Given the description of an element on the screen output the (x, y) to click on. 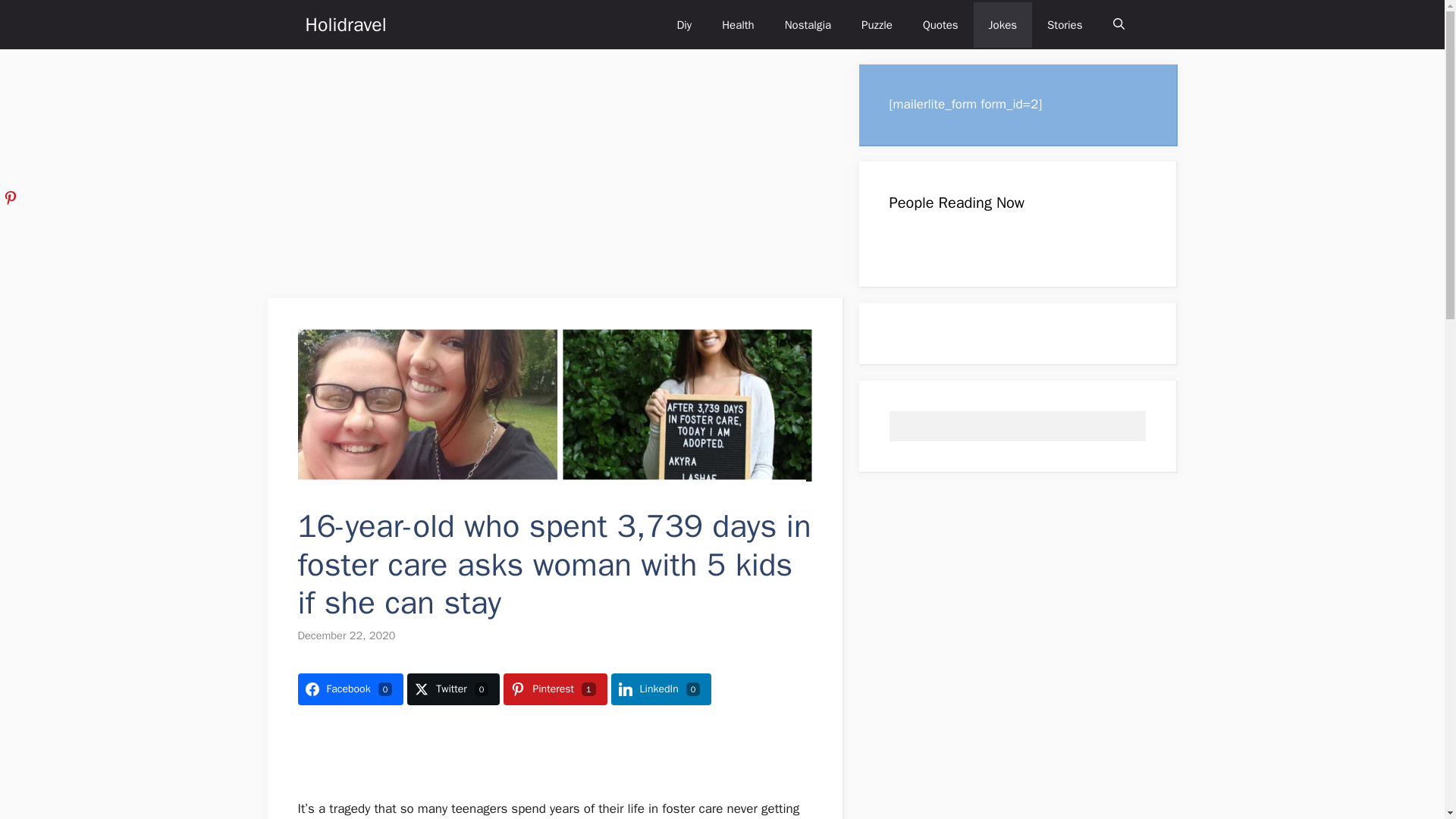
Stories (1064, 23)
Jokes (1003, 23)
LinkedIn0 (661, 689)
Quotes (940, 23)
Pinterest1 (555, 689)
Share on LinkedIn (661, 689)
Diy (683, 23)
Twitter0 (453, 689)
Puzzle (876, 23)
Holidravel (344, 24)
Share on Pinterest (555, 689)
Facebook0 (350, 689)
Share on Twitter (453, 689)
Nostalgia (807, 23)
Share on Facebook (350, 689)
